Given the description of an element on the screen output the (x, y) to click on. 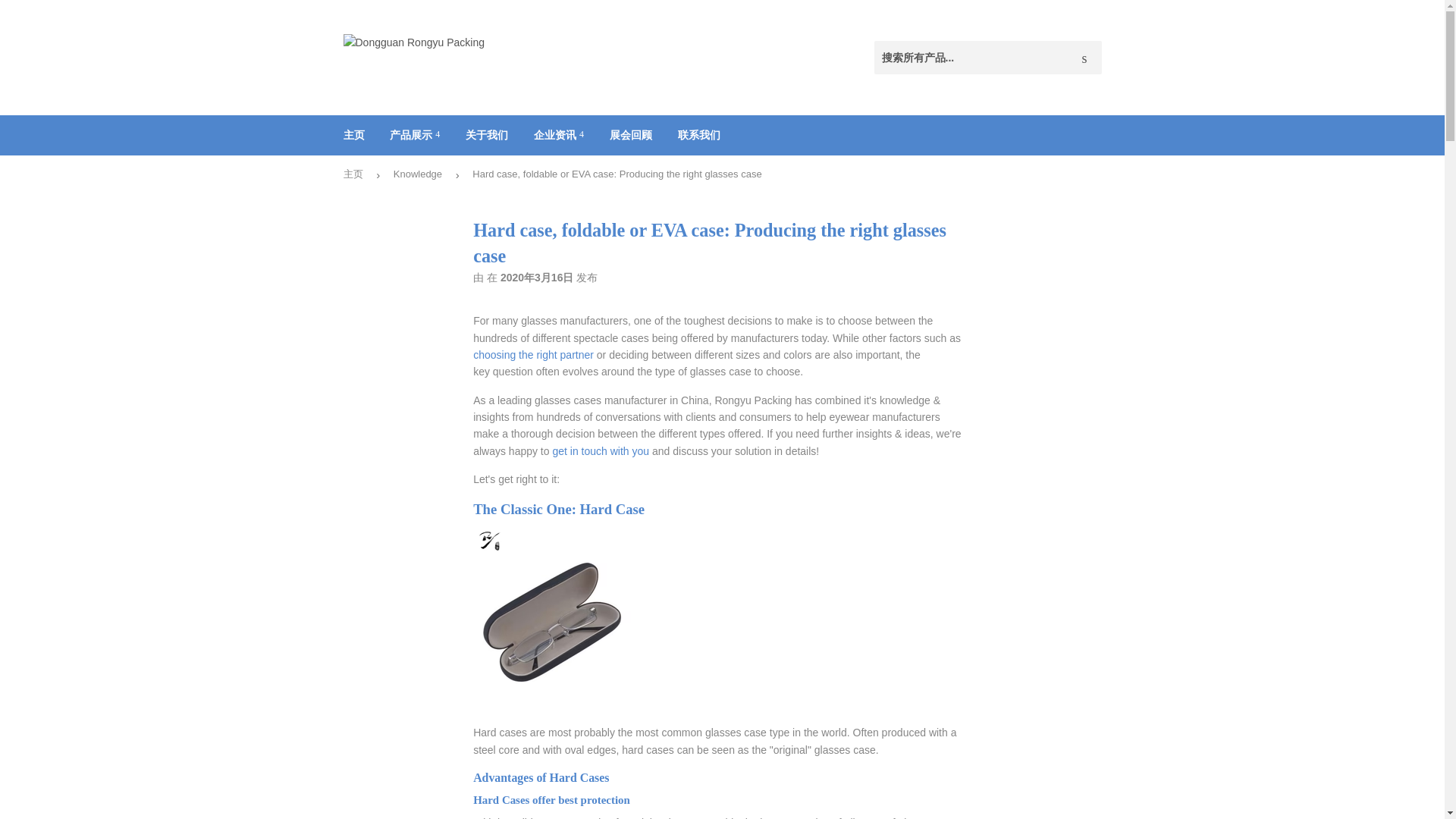
Get in touch with us (600, 451)
Hard Shell Glasses Cases (612, 508)
Producing glasses cases in China (533, 354)
